Given the description of an element on the screen output the (x, y) to click on. 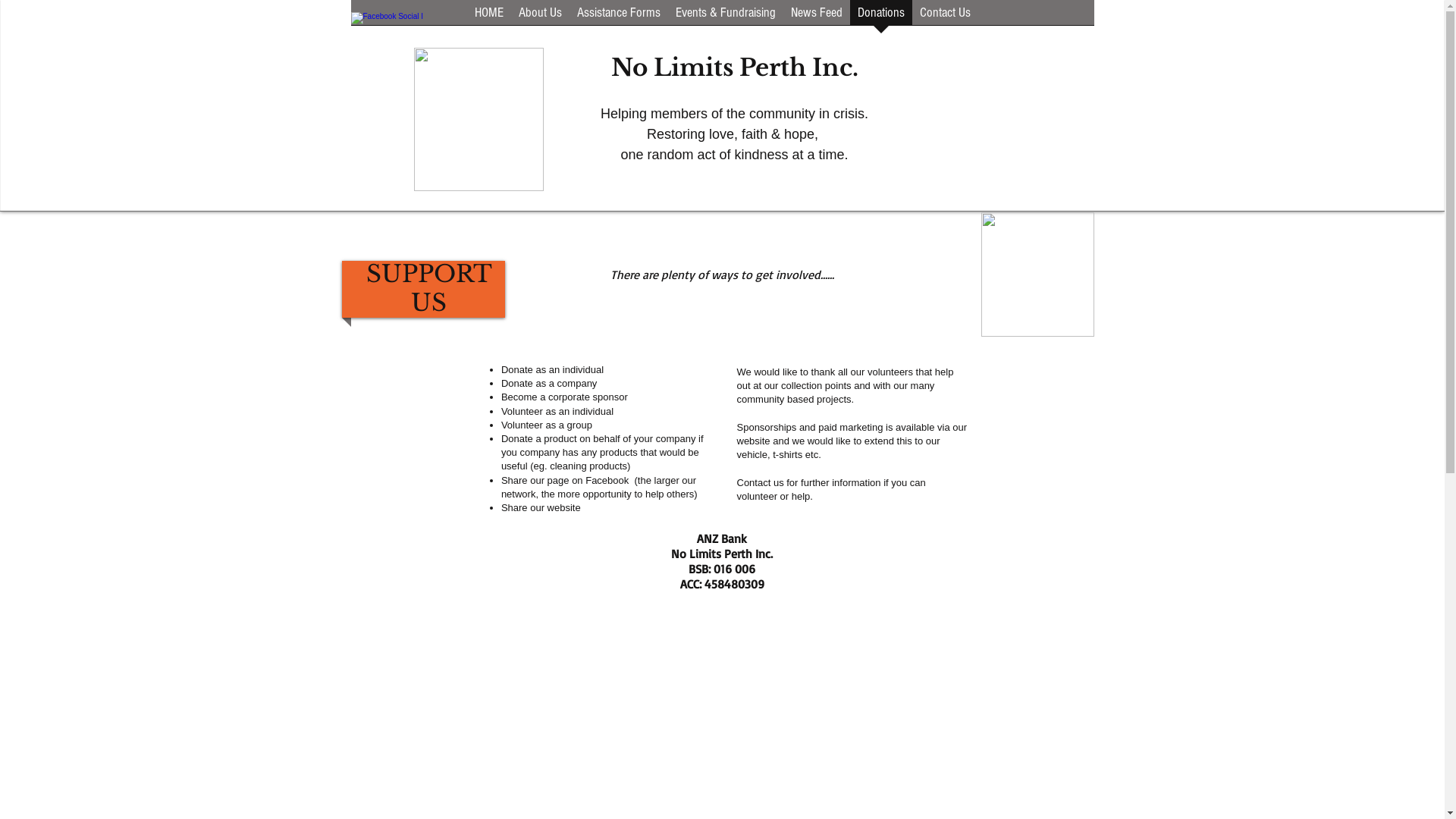
Events & Fundraising Element type: text (724, 17)
Assistance Forms Element type: text (617, 17)
HOME Element type: text (489, 17)
About Us Element type: text (540, 17)
Donations Element type: text (880, 17)
News Feed Element type: text (815, 17)
Contact Us Element type: text (944, 17)
